Given the description of an element on the screen output the (x, y) to click on. 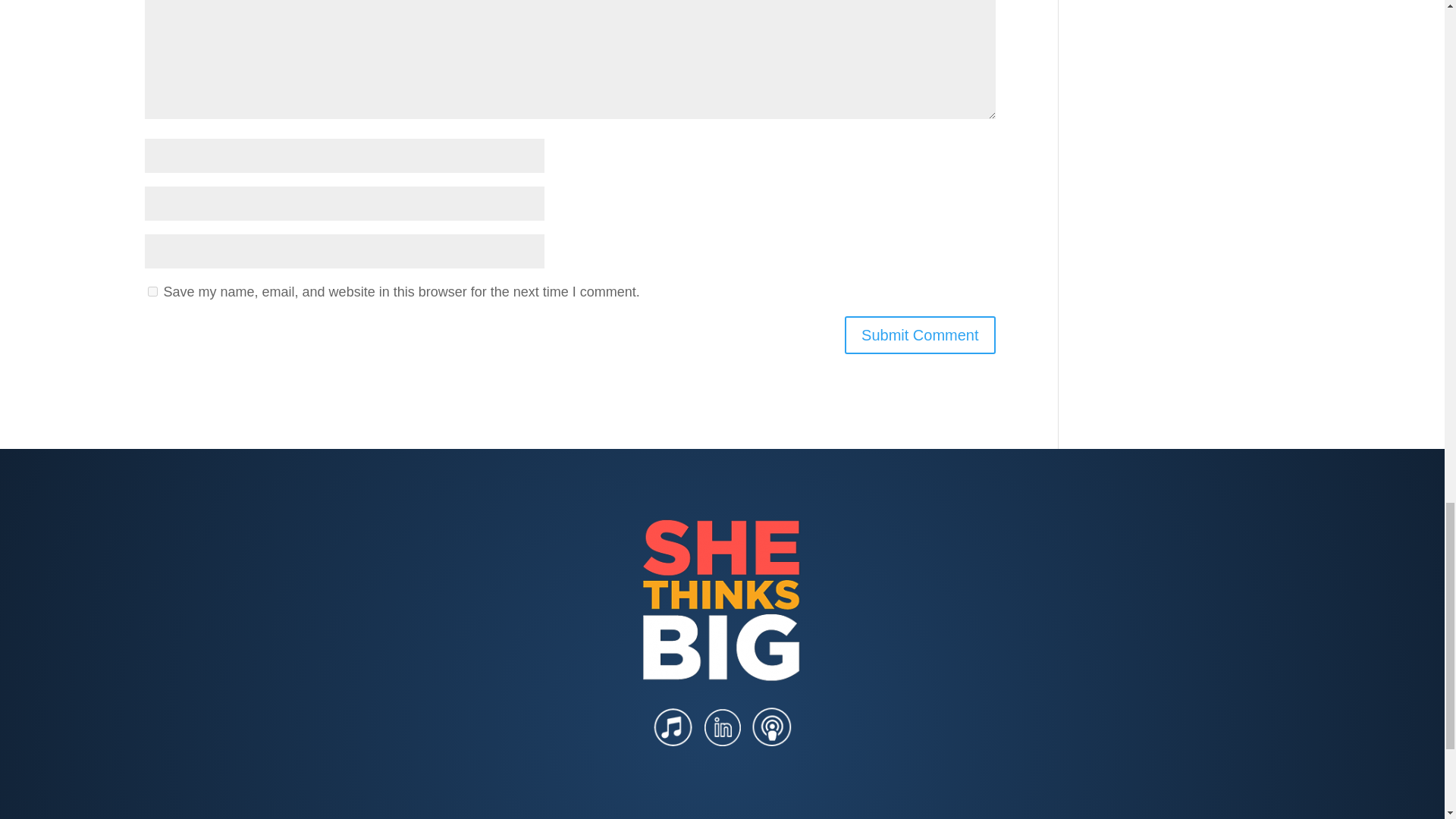
Submit Comment (919, 334)
yes (152, 291)
Submit Comment (919, 334)
